Given the description of an element on the screen output the (x, y) to click on. 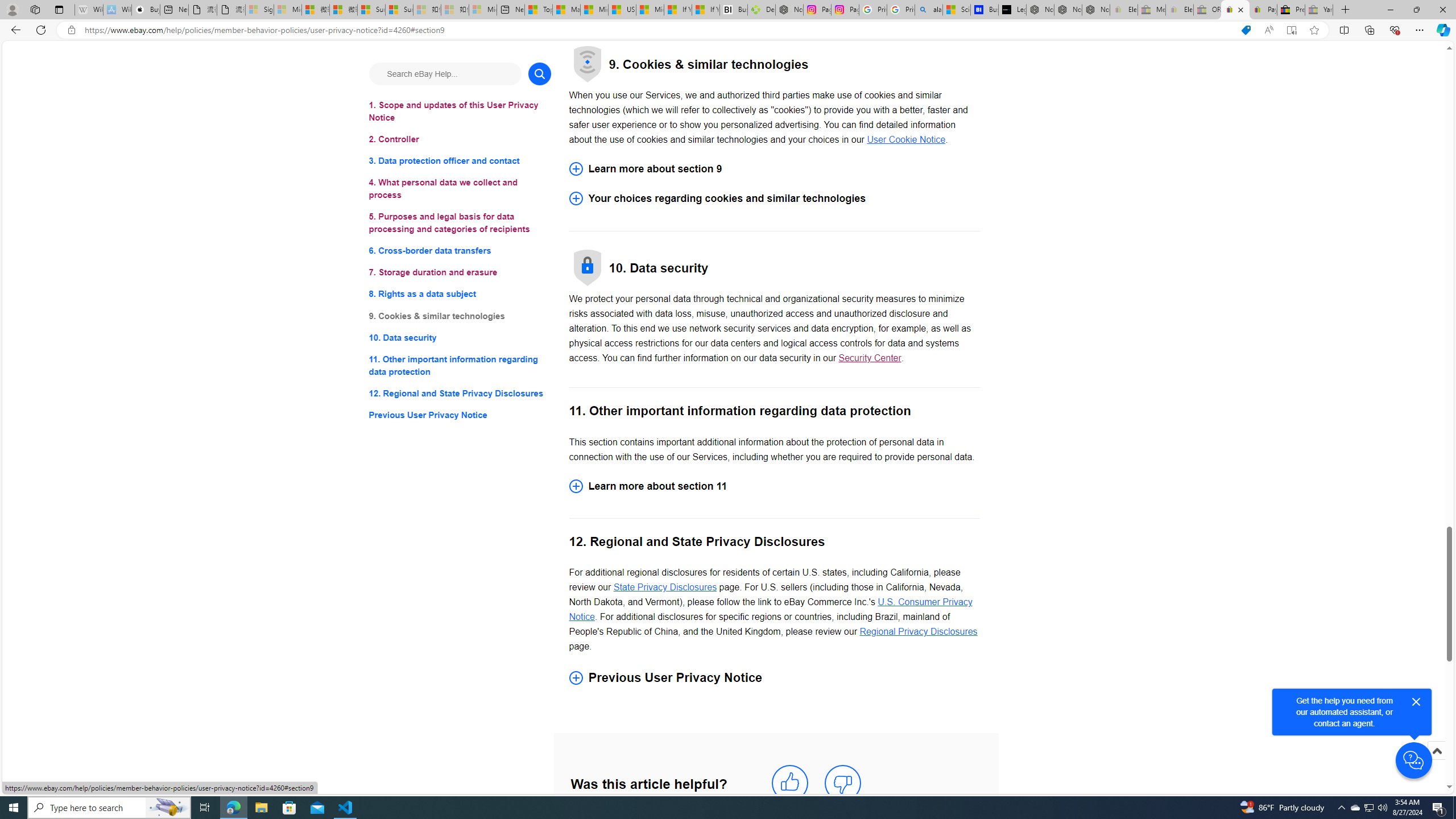
12. Regional and State Privacy Disclosures (459, 392)
1. Scope and updates of this User Privacy Notice (459, 111)
4. What personal data we collect and process (459, 189)
Previous User Privacy Notice (459, 414)
